Given the description of an element on the screen output the (x, y) to click on. 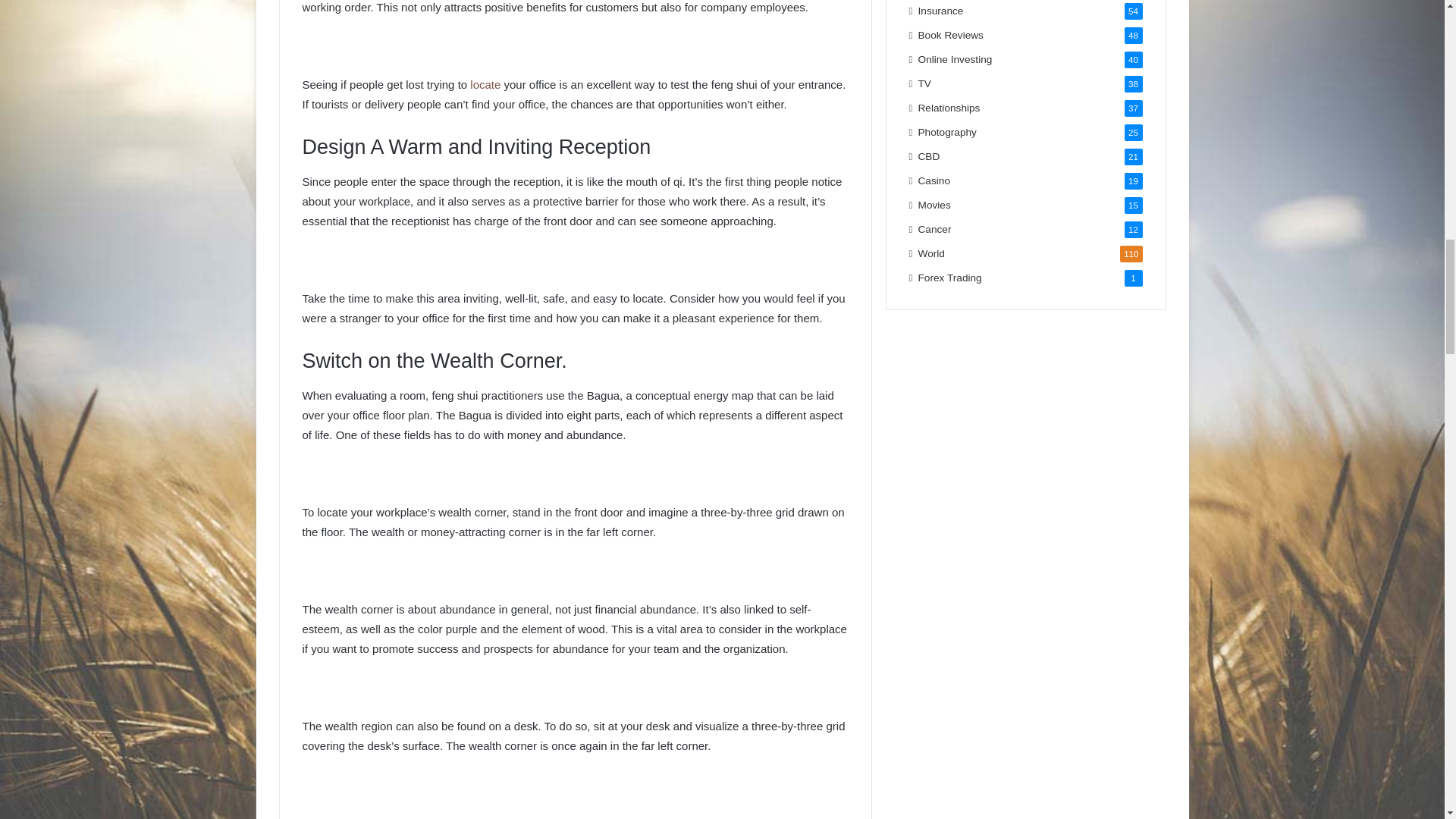
locate (485, 83)
